Given the description of an element on the screen output the (x, y) to click on. 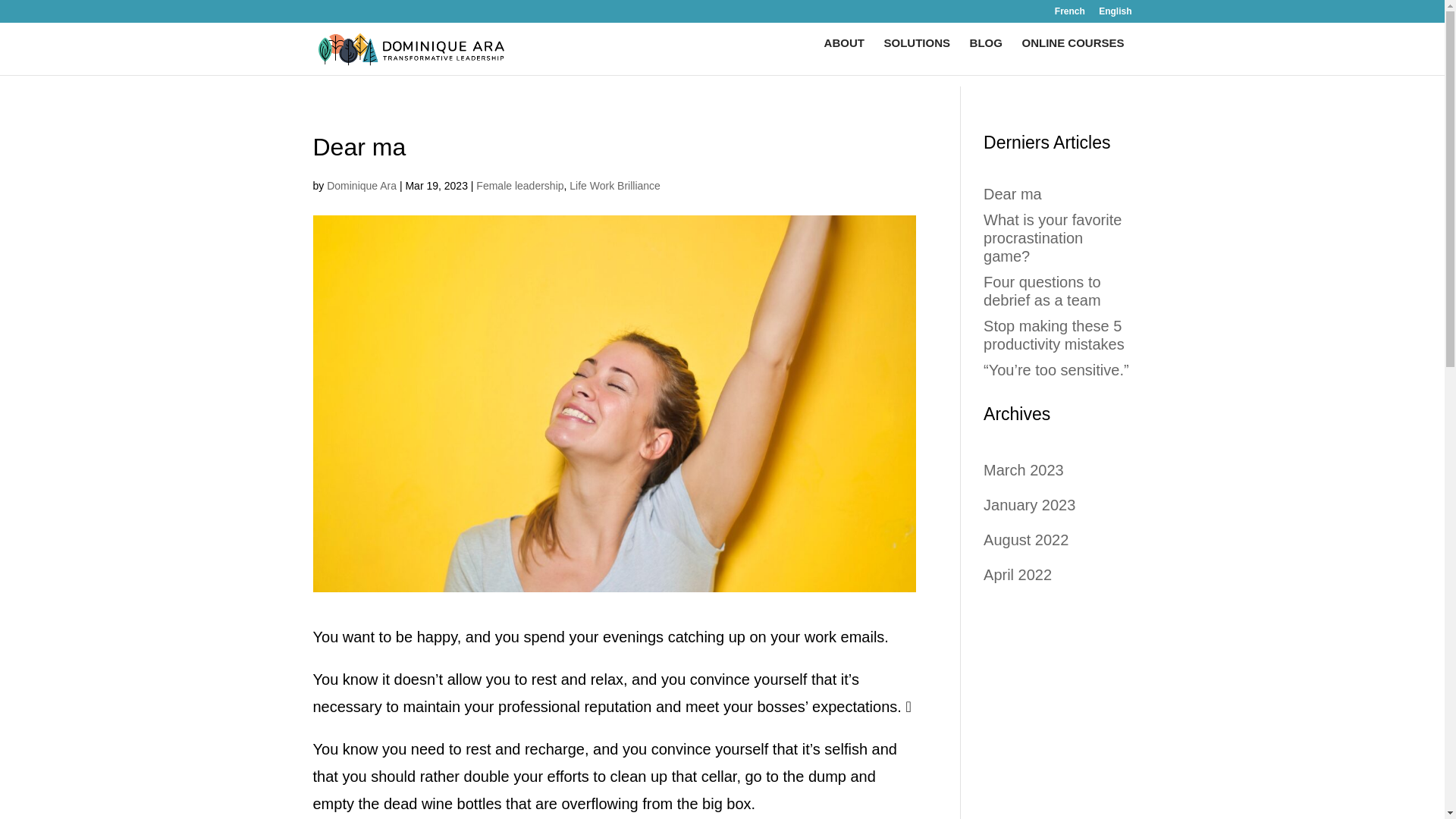
Four questions to debrief as a team (1042, 290)
ONLINE COURSES (1073, 56)
Posts by Dominique Ara (361, 185)
August 2022 (1026, 539)
January 2023 (1029, 504)
ABOUT (844, 56)
French (1069, 14)
SOLUTIONS (916, 56)
Dominique Ara (361, 185)
Stop making these 5 productivity mistakes (1054, 334)
